Given the description of an element on the screen output the (x, y) to click on. 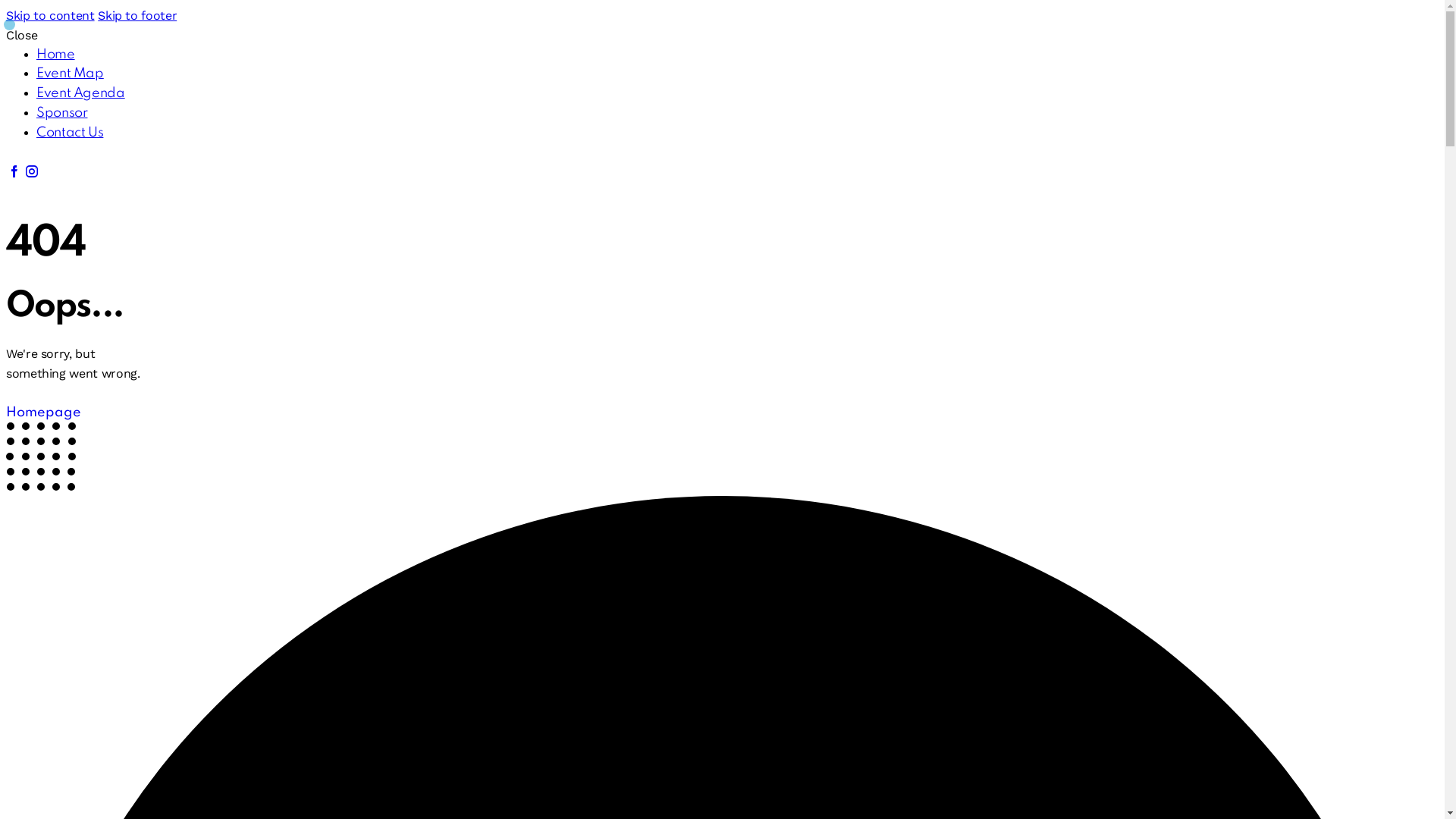
Skip to content Element type: text (50, 15)
Event Map Element type: text (69, 73)
Sponsor Element type: text (61, 112)
Close Element type: text (21, 35)
Contact Us Element type: text (69, 132)
Homepage Element type: text (43, 412)
Event Agenda Element type: text (80, 93)
Skip to footer Element type: text (136, 15)
Home Element type: text (55, 54)
